Given the description of an element on the screen output the (x, y) to click on. 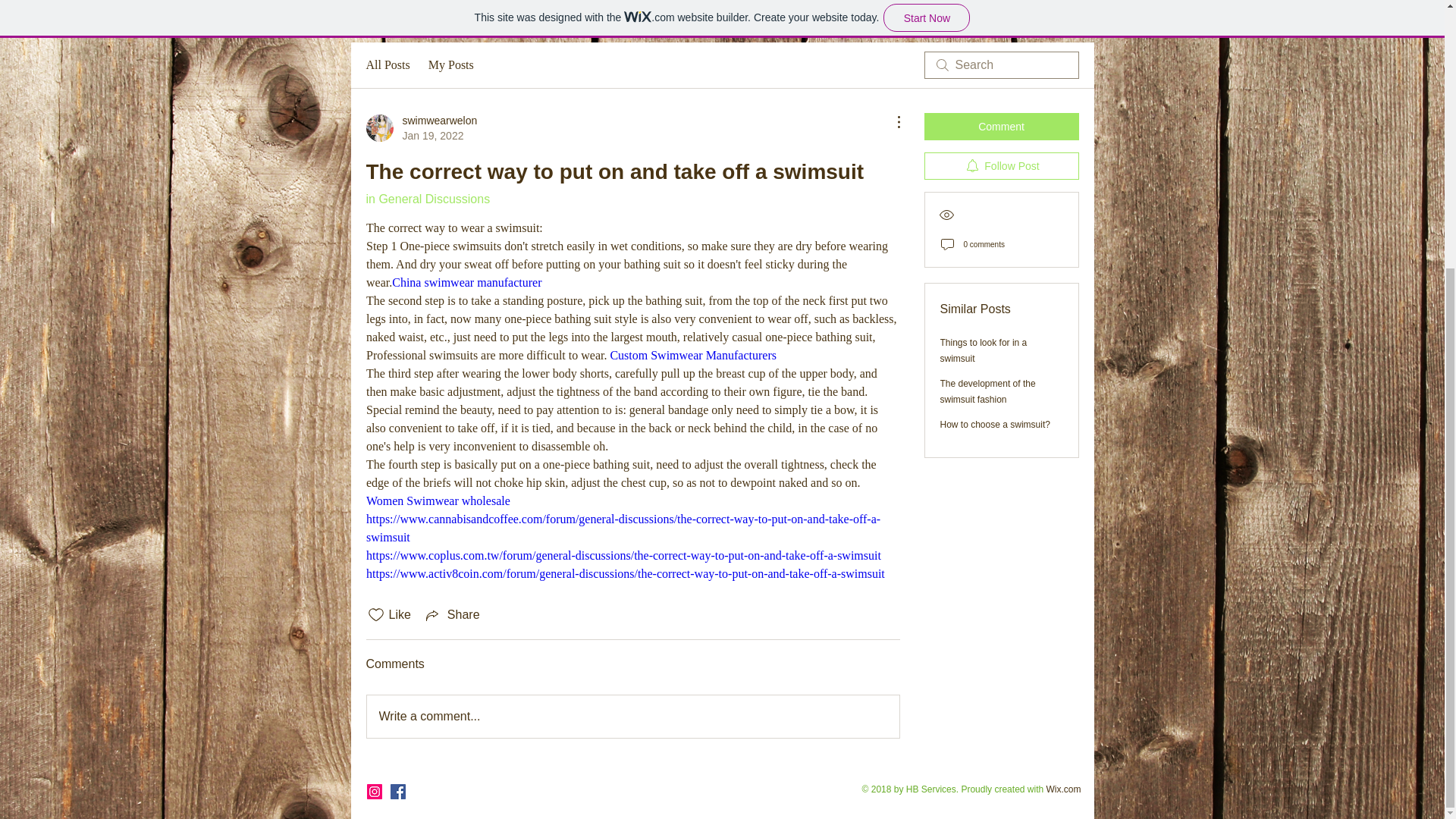
The development of the swimsuit fashion (987, 391)
Things to look for in a swimsuit (983, 350)
Write a comment... (632, 716)
in General Discussions (427, 198)
Follow Post (1000, 165)
All Posts (421, 128)
Custom Swimwear Manufacturers (387, 65)
Wix.com (693, 354)
Share (1063, 788)
My Posts (451, 615)
China swimwear manufacturer (451, 65)
Women Swimwear wholesale (466, 282)
Comment (437, 500)
How to choose a swimsuit? (1000, 126)
